Given the description of an element on the screen output the (x, y) to click on. 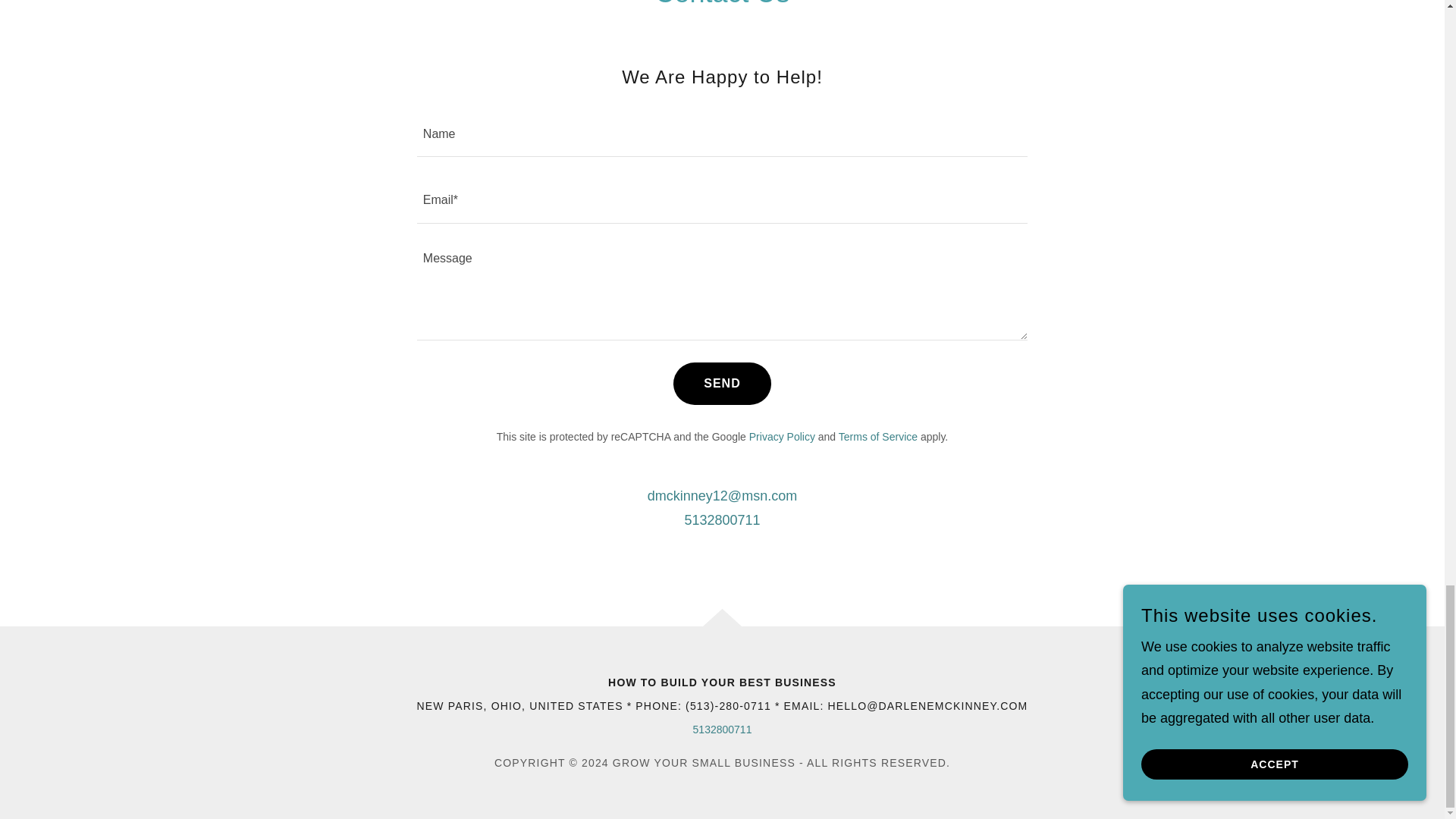
Terms of Service (877, 436)
Privacy Policy (782, 436)
SEND (721, 383)
5132800711 (722, 729)
5132800711 (722, 519)
